Given the description of an element on the screen output the (x, y) to click on. 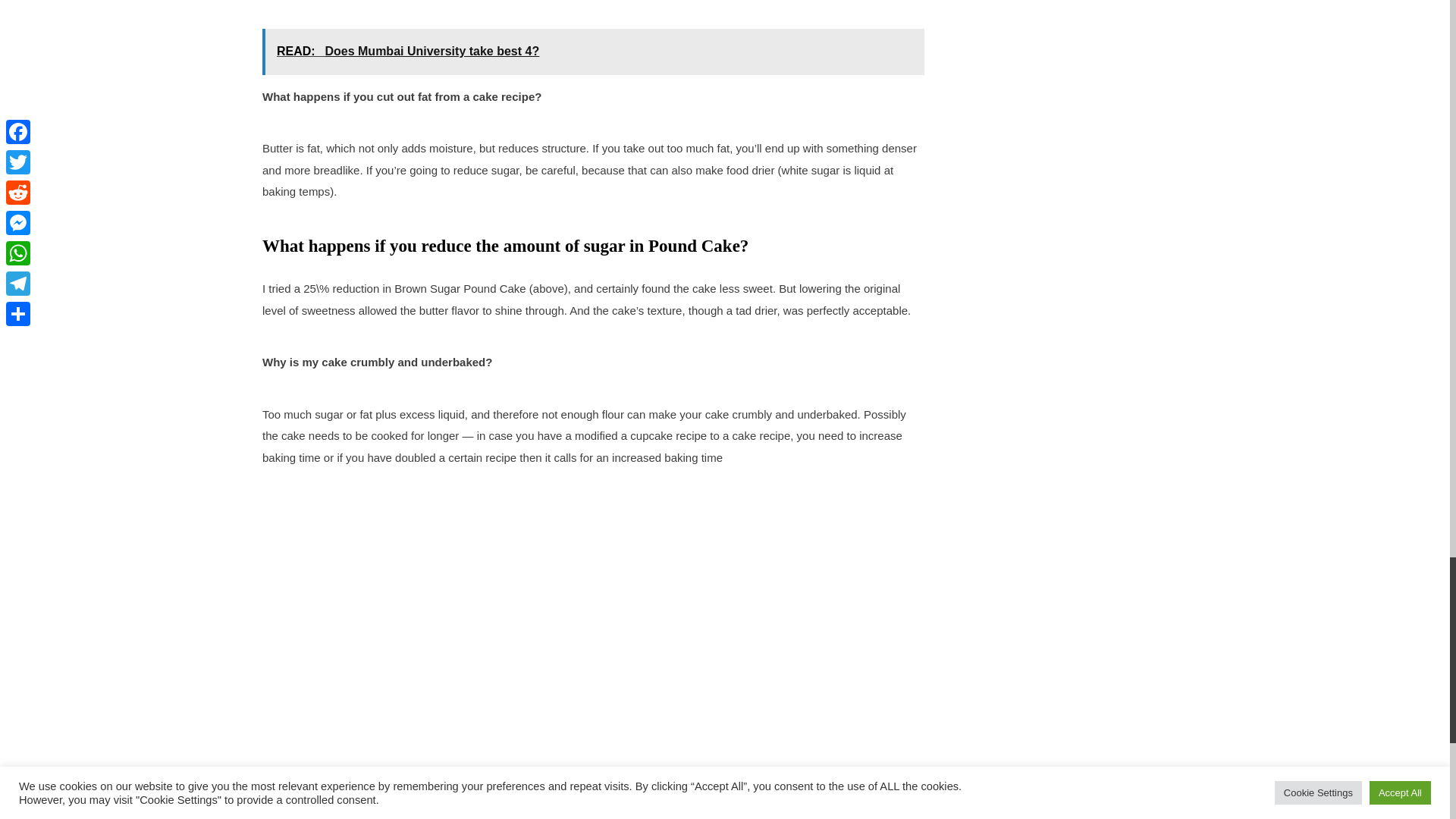
Reddit (338, 804)
Facebook (277, 804)
Twitter (307, 804)
Telegram (428, 804)
WhatsApp (398, 804)
READ:   Does Mumbai University take best 4? (593, 51)
Reddit (338, 804)
Messenger (368, 804)
Facebook (277, 804)
Twitter (307, 804)
